Given the description of an element on the screen output the (x, y) to click on. 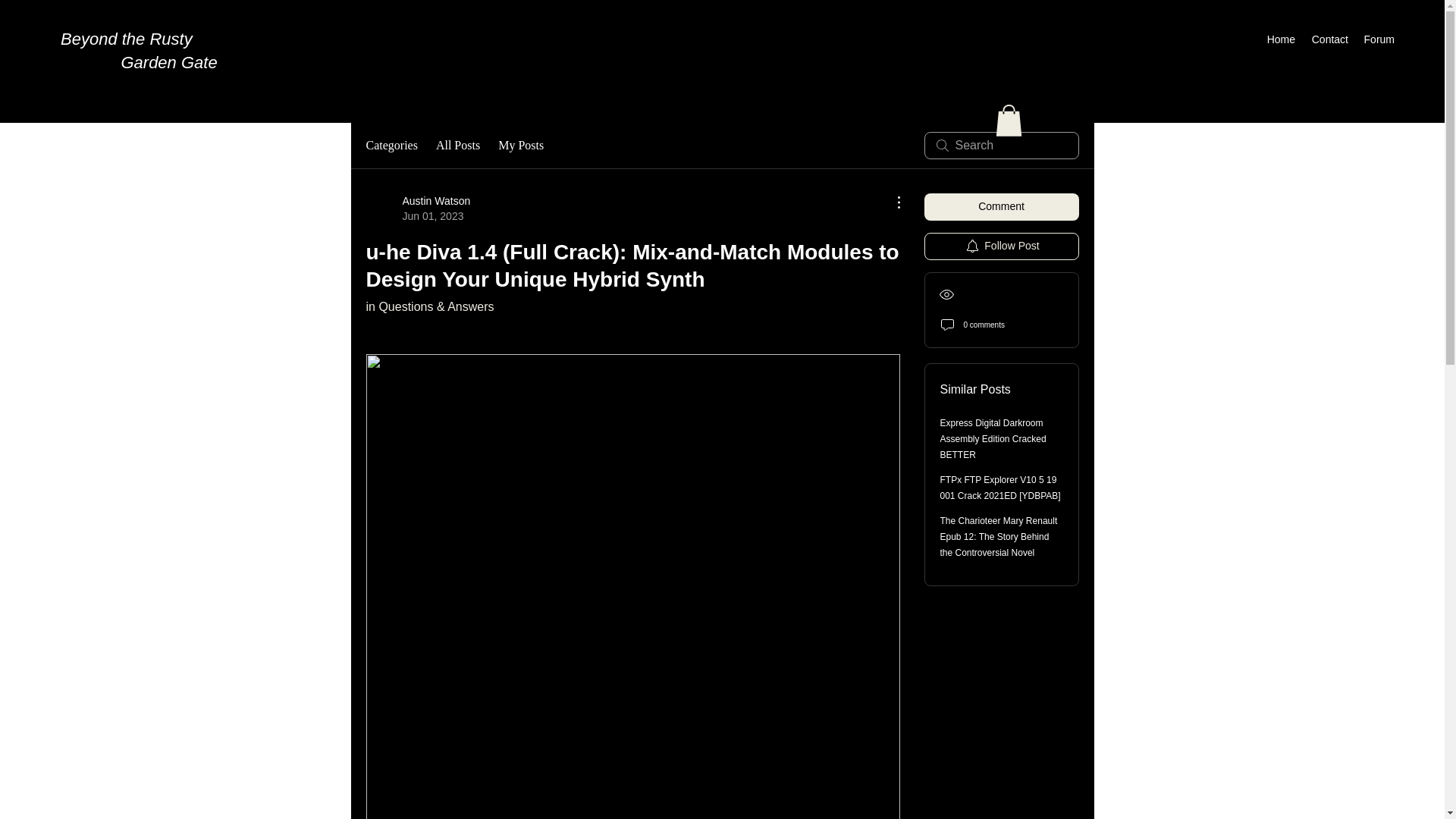
Forum (1378, 38)
Contact (1329, 38)
Home (1281, 38)
All Posts (457, 145)
My Posts (520, 145)
Follow Post (1000, 246)
Categories (390, 145)
Comment (1000, 206)
Express Digital Darkroom Assembly Edition Cracked BETTER (993, 438)
